Given the description of an element on the screen output the (x, y) to click on. 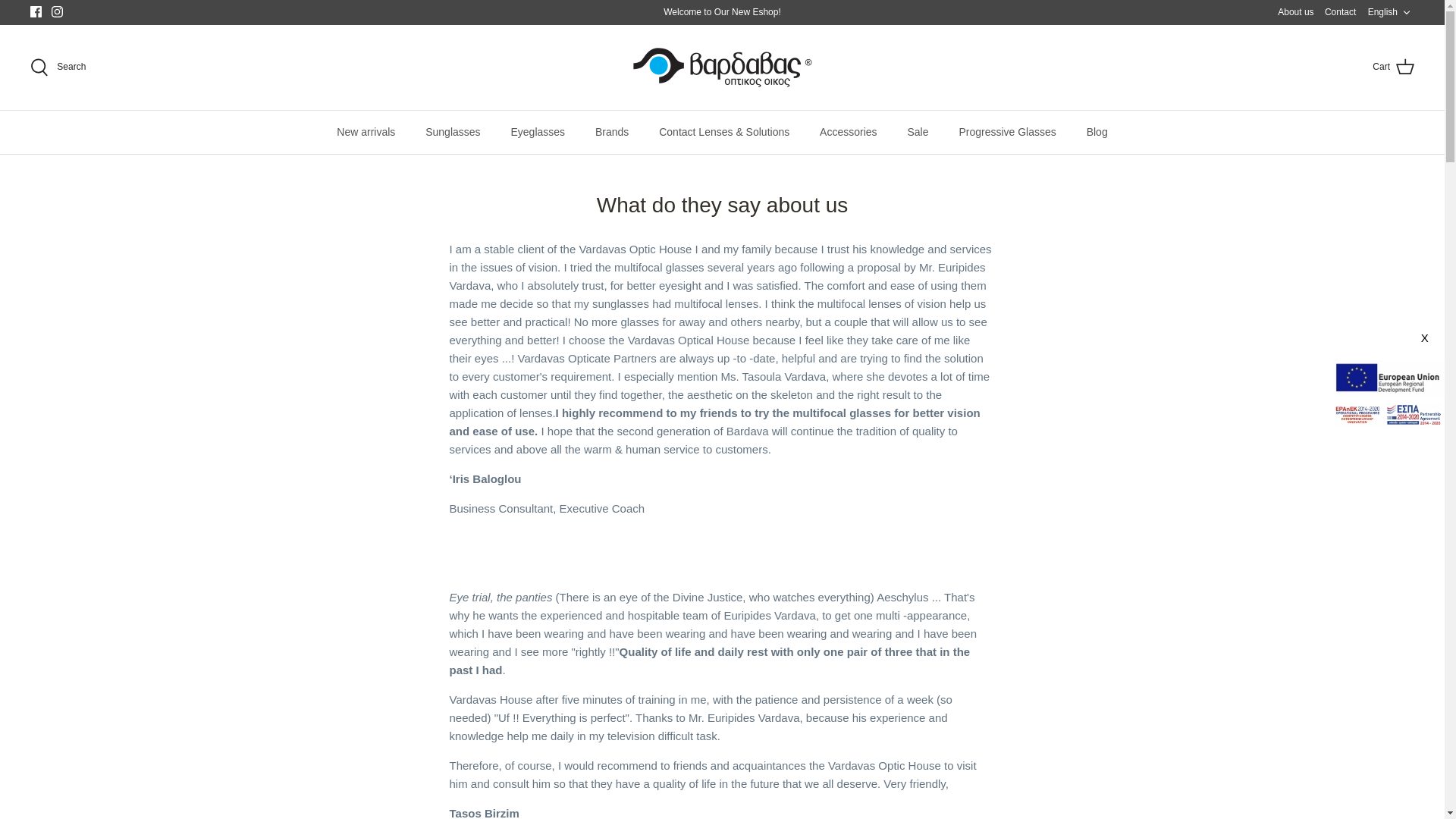
Instagram (1390, 12)
Facebook (56, 11)
Instagram (36, 11)
Vardavas Optics (56, 11)
Sunglasses (721, 67)
X (452, 131)
Contact (1425, 338)
Down (1339, 12)
Cart (1406, 12)
